Given the description of an element on the screen output the (x, y) to click on. 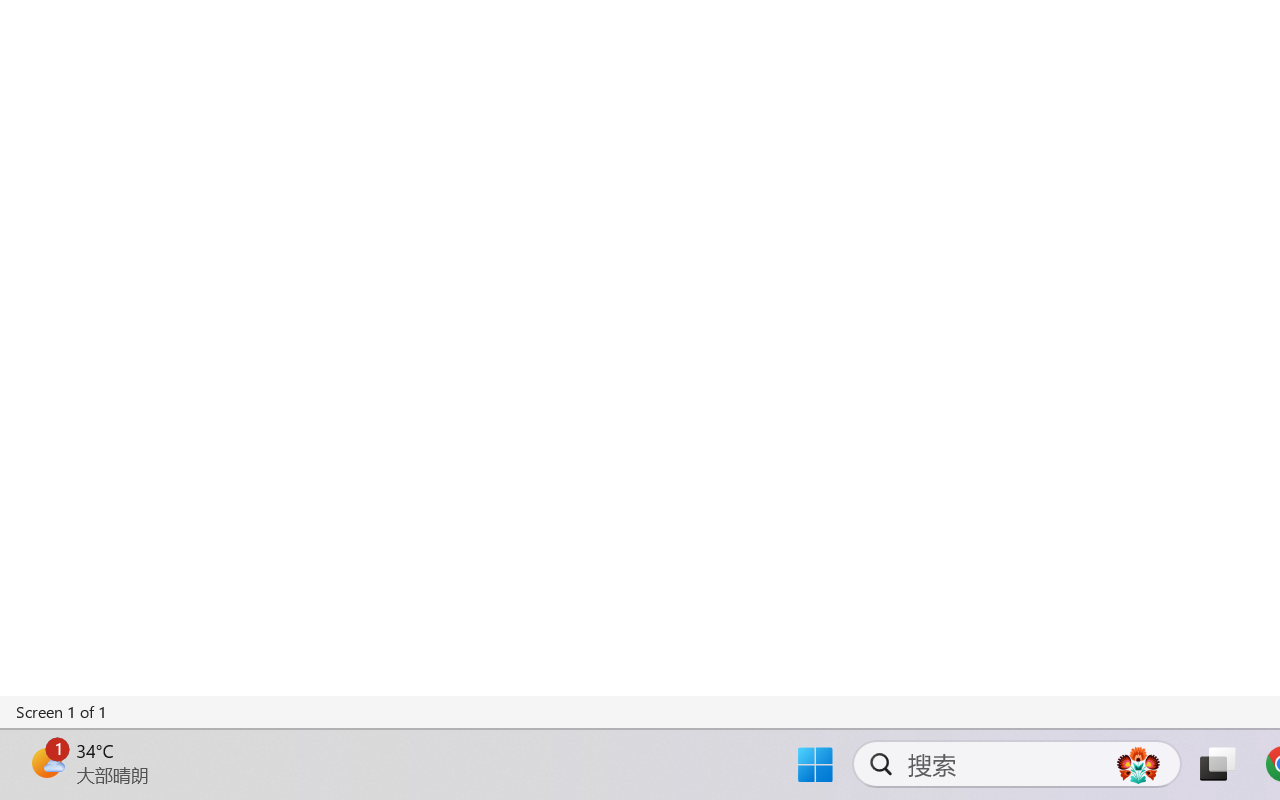
Page Number Screen 1 of 1  (62, 712)
